Given the description of an element on the screen output the (x, y) to click on. 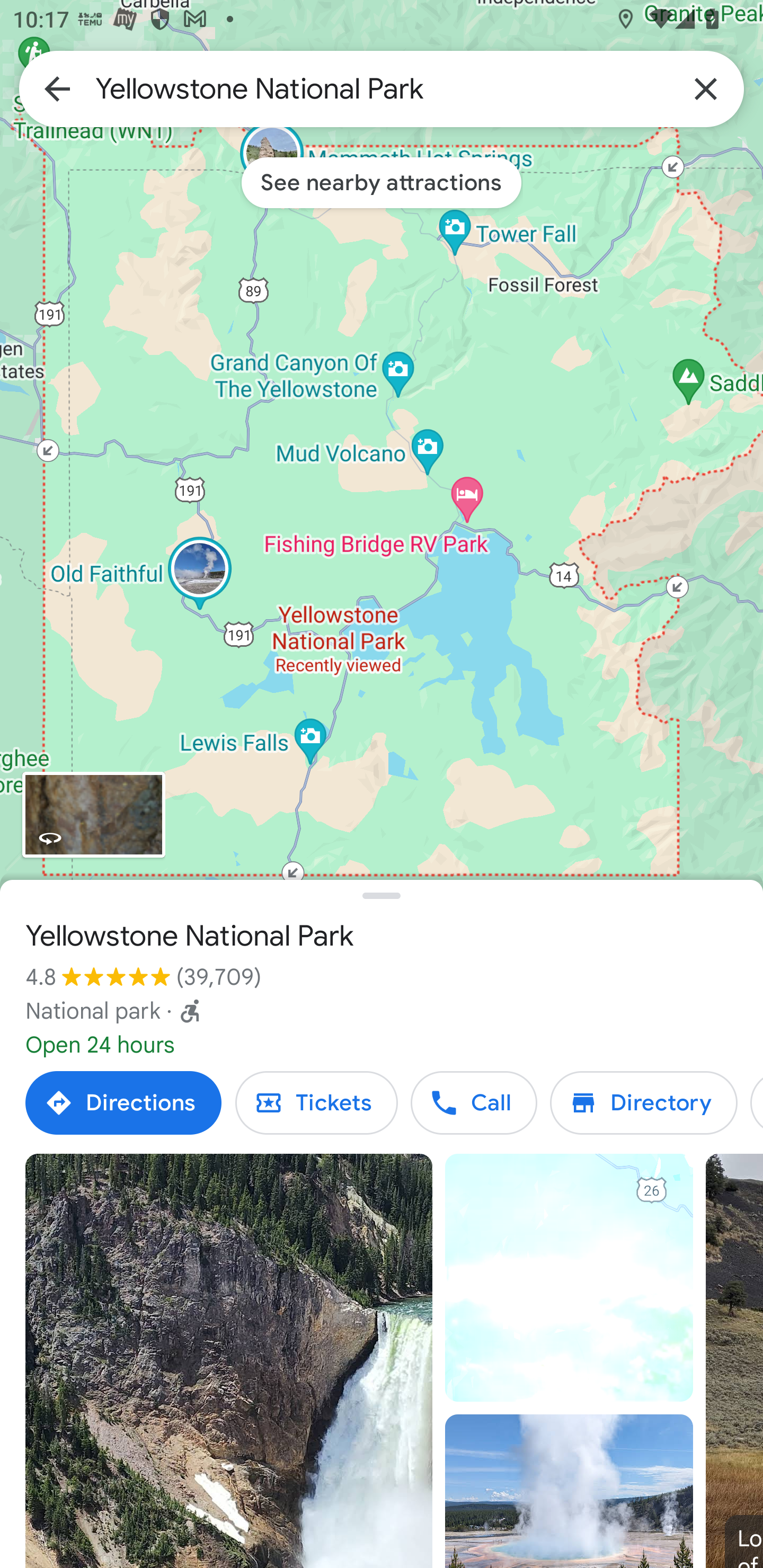
Back (57, 88)
Yellowstone National Park (381, 88)
Clear (705, 88)
See nearby attractions (381, 182)
Tickets (316, 1102)
Directory Directory Directory (643, 1102)
Photo (228, 1361)
Video (568, 1277)
Photo (568, 1491)
